Given the description of an element on the screen output the (x, y) to click on. 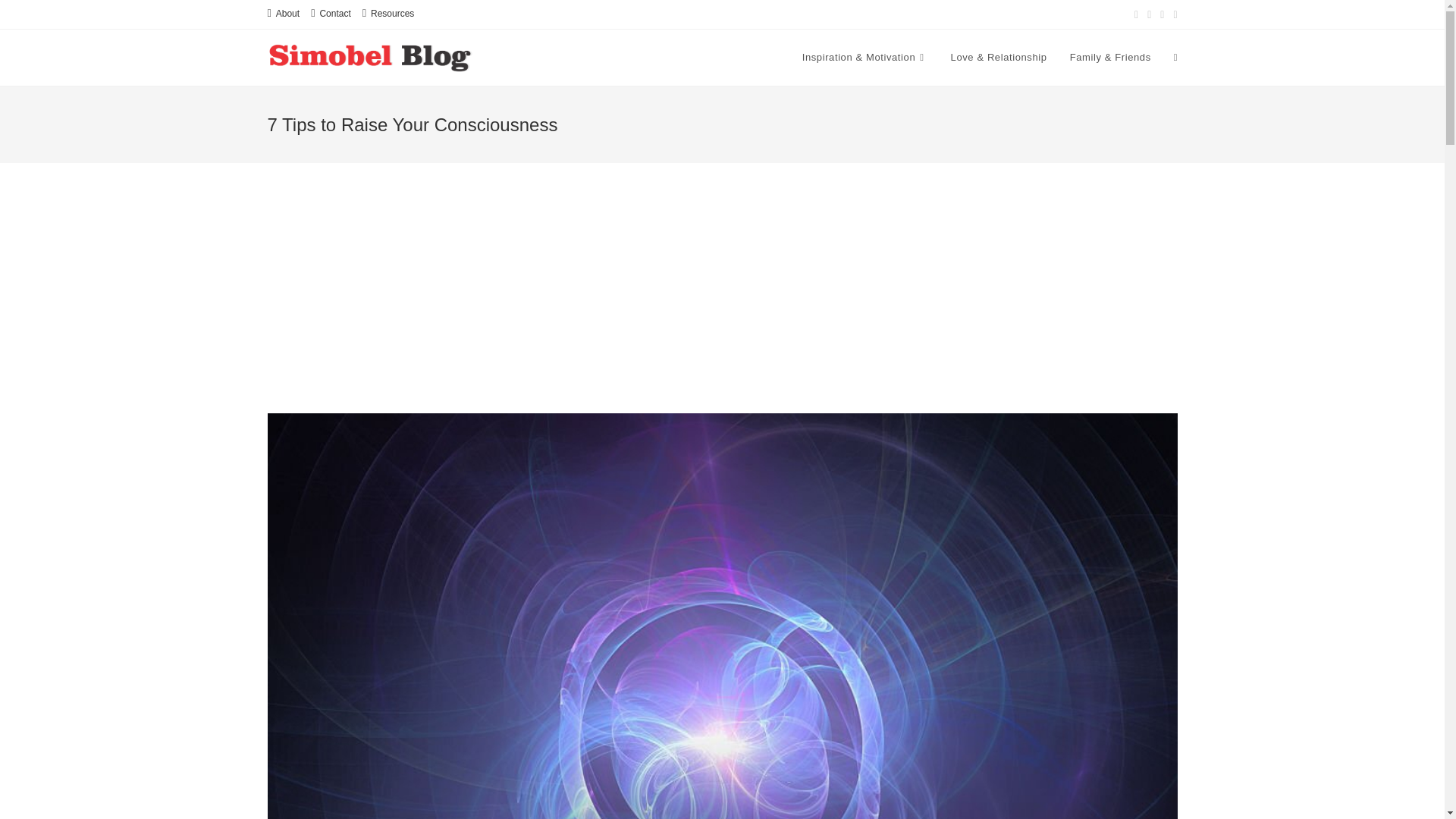
Contact (330, 13)
About (282, 13)
Resources (388, 13)
